Given the description of an element on the screen output the (x, y) to click on. 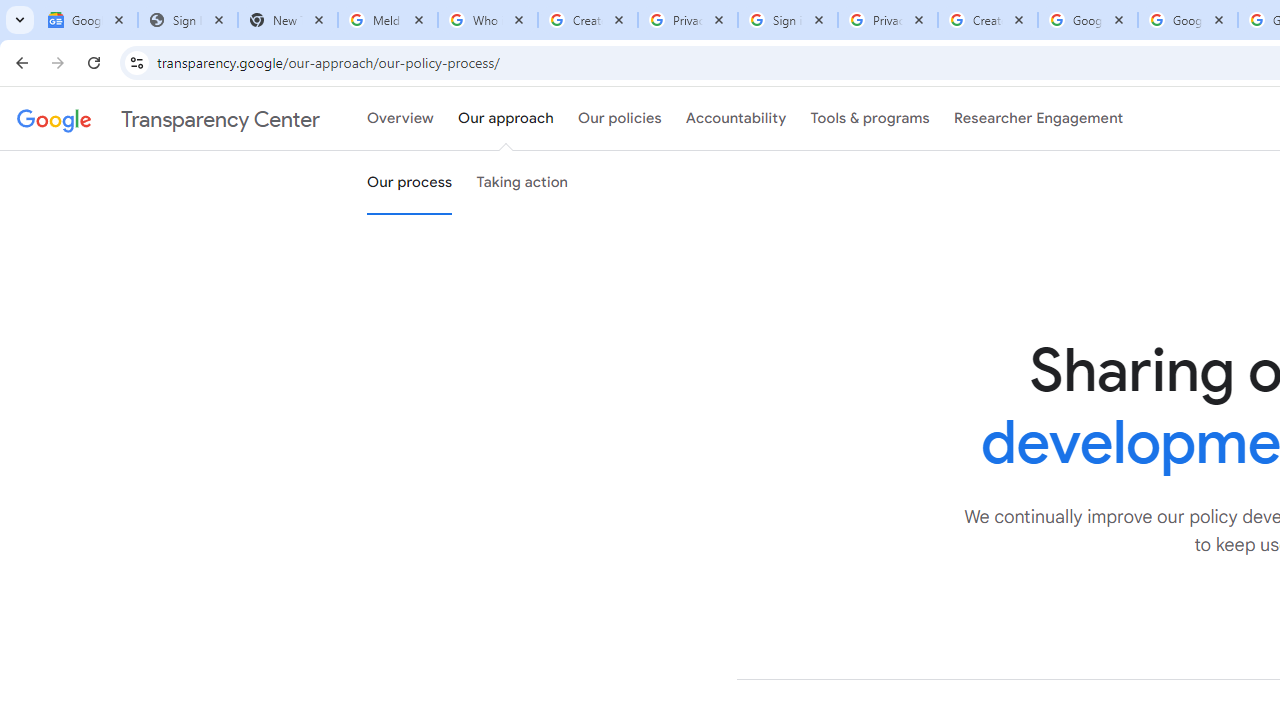
Our policies (619, 119)
Create your Google Account (988, 20)
Our approach (506, 119)
Who is my administrator? - Google Account Help (487, 20)
Taking action (522, 183)
Google News (87, 20)
New Tab (287, 20)
